Given the description of an element on the screen output the (x, y) to click on. 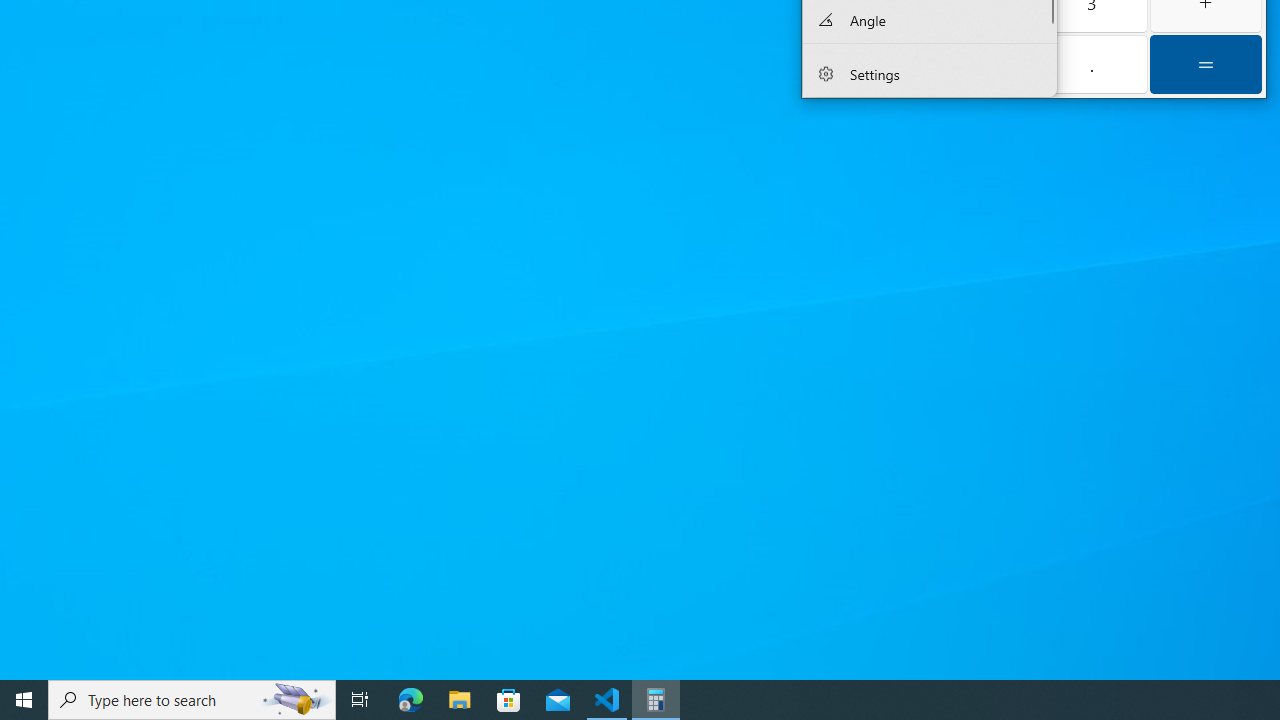
Zero (977, 64)
Positive negative (862, 64)
Equals (1205, 64)
Settings (929, 74)
Angle Converter (929, 20)
Calculator - 1 running window (656, 699)
Task View (359, 699)
Microsoft Edge (411, 699)
Microsoft Store (509, 699)
Start (24, 699)
Vertical Small Increase (1050, 32)
Search highlights icon opens search home window (295, 699)
File Explorer (460, 699)
Decimal separator (1091, 64)
